Given the description of an element on the screen output the (x, y) to click on. 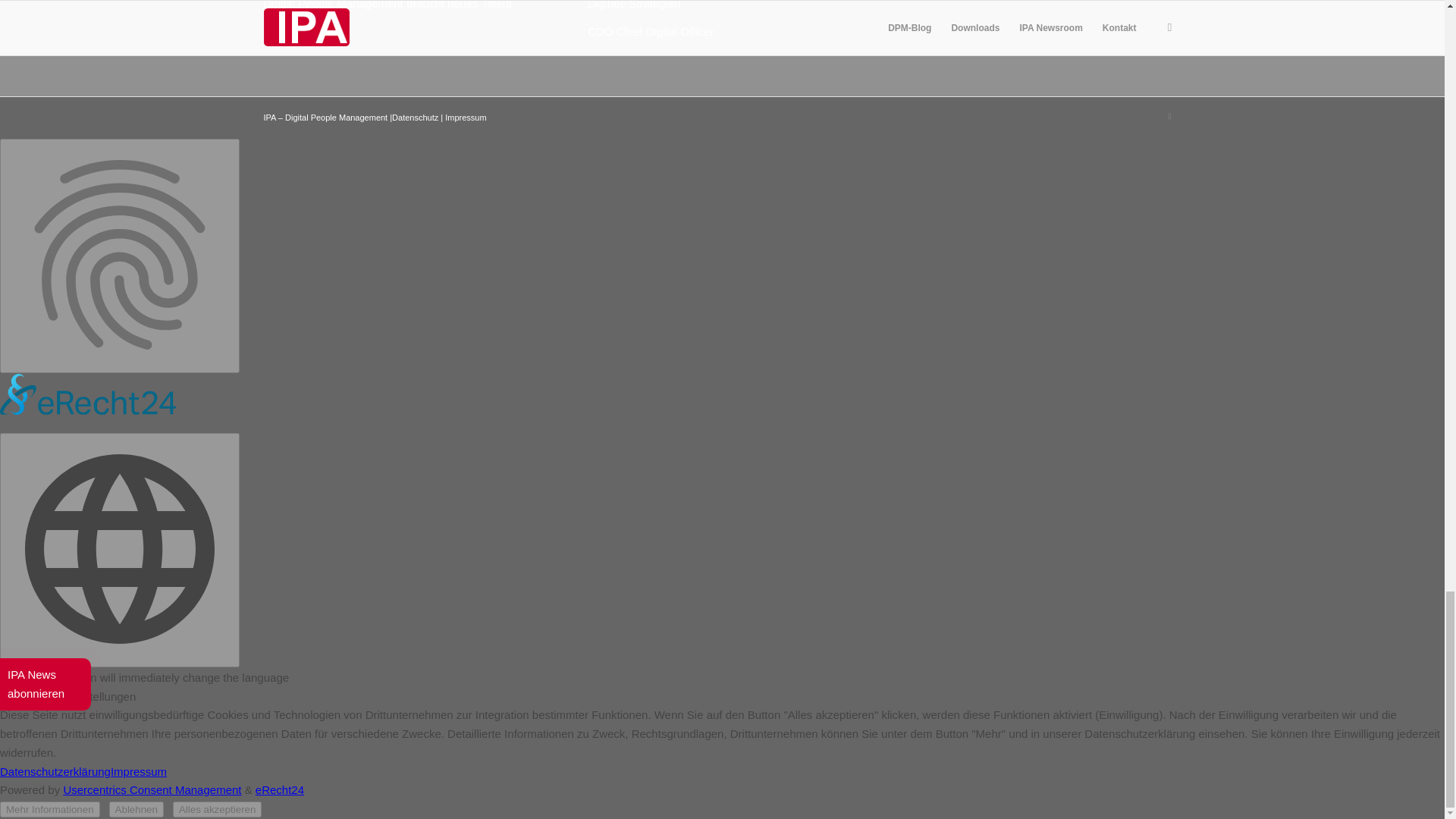
Rss (1169, 115)
CDO Chief Digital Officer (650, 31)
Digital People Management braucht neues Talent Management (387, 14)
